Given the description of an element on the screen output the (x, y) to click on. 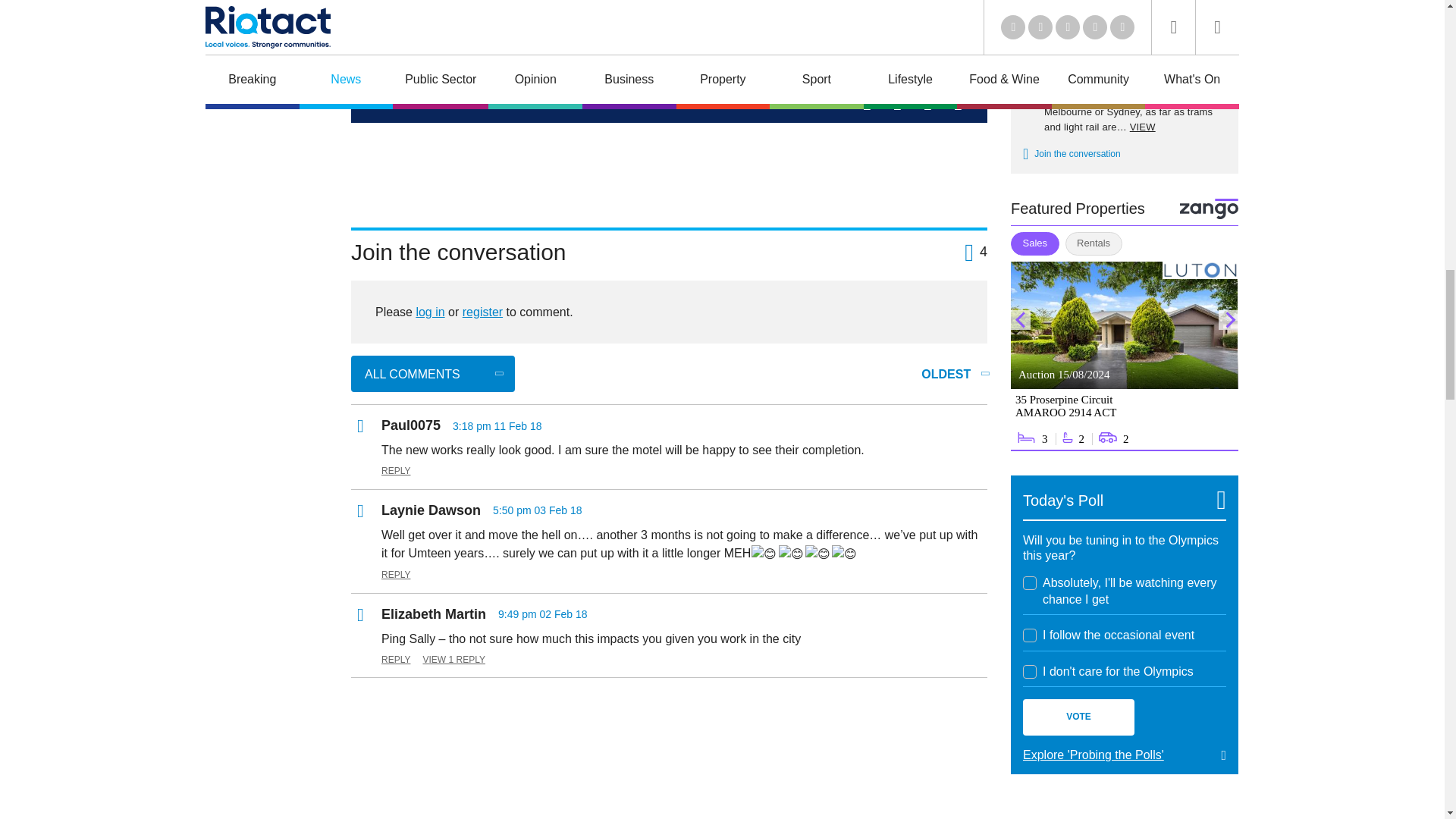
Zango Sales (1124, 356)
Zango (1209, 209)
3rd party ad content (668, 169)
2044 (1029, 635)
2043 (1029, 582)
3rd party ad content (668, 724)
2045 (1029, 671)
   Vote    (1078, 717)
